Given the description of an element on the screen output the (x, y) to click on. 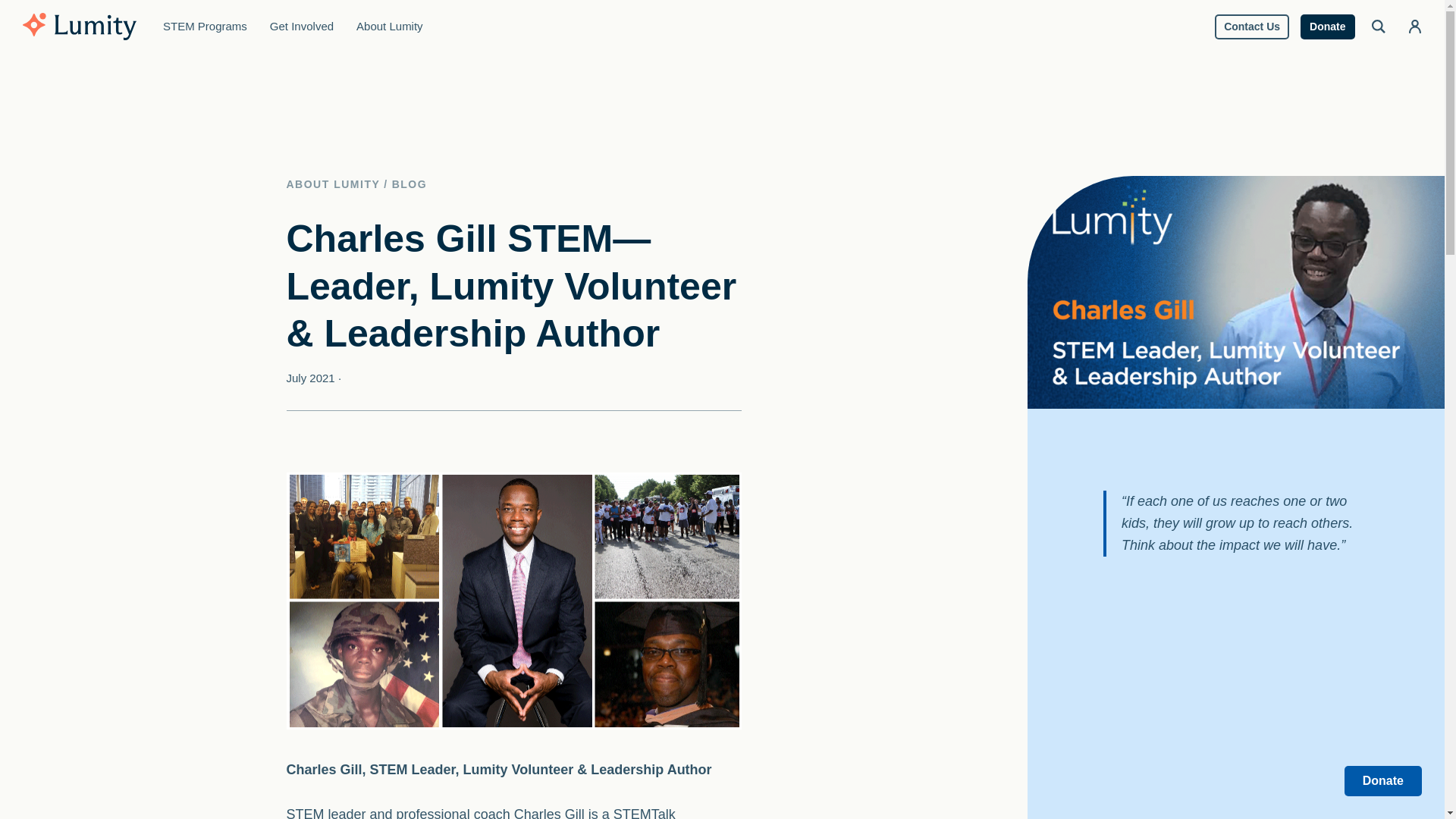
About Lumity (389, 26)
Get Involved (302, 26)
Contact Us (1251, 25)
Donate (1382, 780)
STEM Programs (205, 26)
Donate (1327, 25)
